Given the description of an element on the screen output the (x, y) to click on. 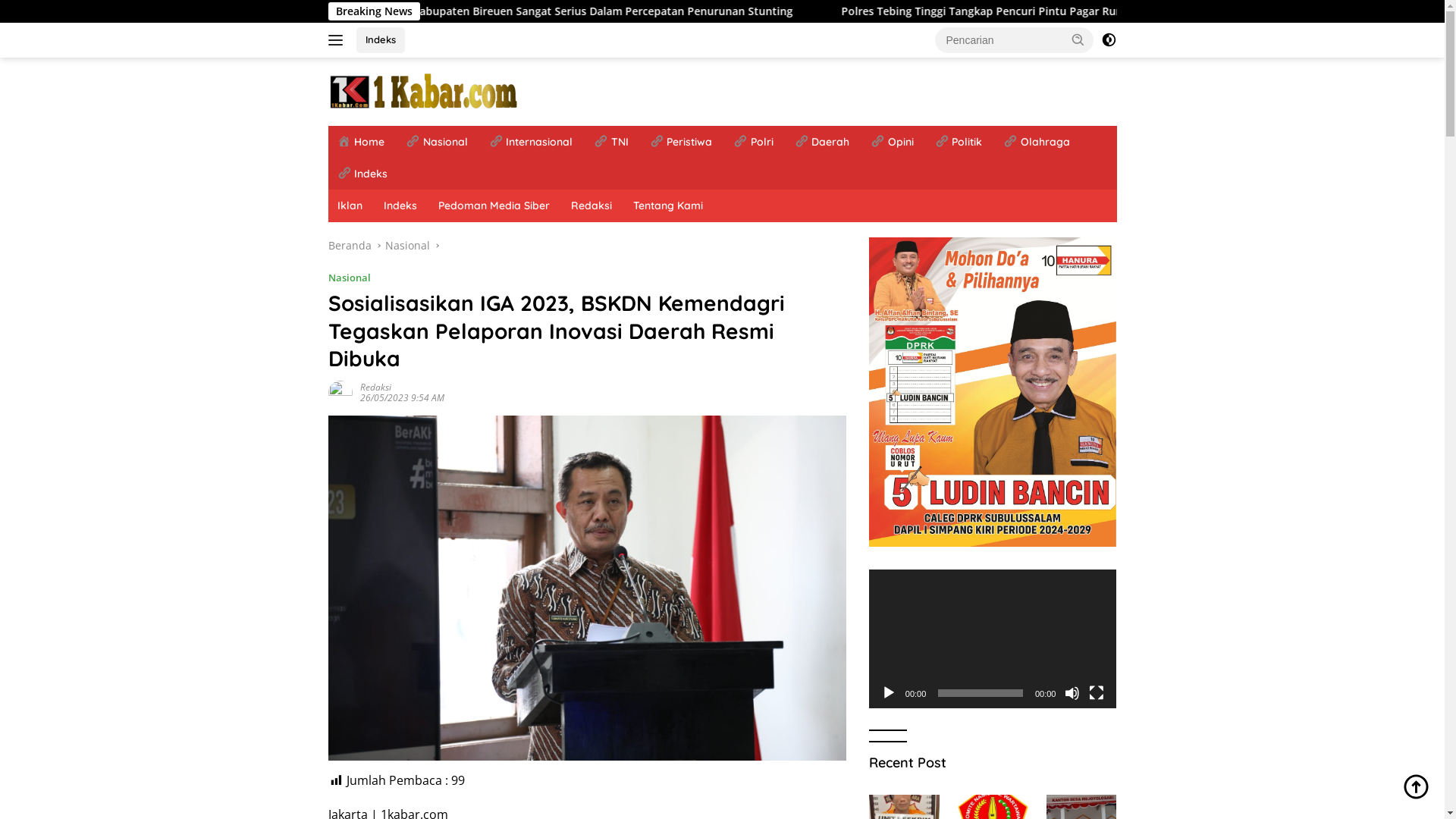
Nasional Element type: text (348, 277)
Indeks Element type: text (400, 205)
Peristiwa Element type: text (680, 141)
Opini Element type: text (891, 141)
Bisu Element type: hover (1071, 692)
Daerah Element type: text (822, 141)
Beranda Element type: text (348, 245)
Politik Element type: text (958, 141)
Home Element type: text (360, 141)
Polri Element type: text (753, 141)
Tentang Kami Element type: text (667, 205)
Indeks Element type: text (380, 40)
Putar Element type: hover (888, 692)
Iklan Element type: text (348, 205)
Permalink ke: Redaksi Element type: hover (339, 390)
Pedoman Media Siber Element type: text (493, 205)
Mode Gelap Element type: hover (1109, 40)
1Kabar.com Element type: hover (422, 90)
Internasional Element type: text (530, 141)
Indeks Element type: text (361, 173)
Menu Element type: hover (337, 40)
Redaksi Element type: text (374, 386)
Redaksi Element type: text (590, 205)
Selayar penuh Element type: hover (1096, 692)
Nasional Element type: text (436, 141)
Olahraga Element type: text (1036, 141)
TNI Element type: text (610, 141)
Nasional Element type: text (407, 245)
